Given the description of an element on the screen output the (x, y) to click on. 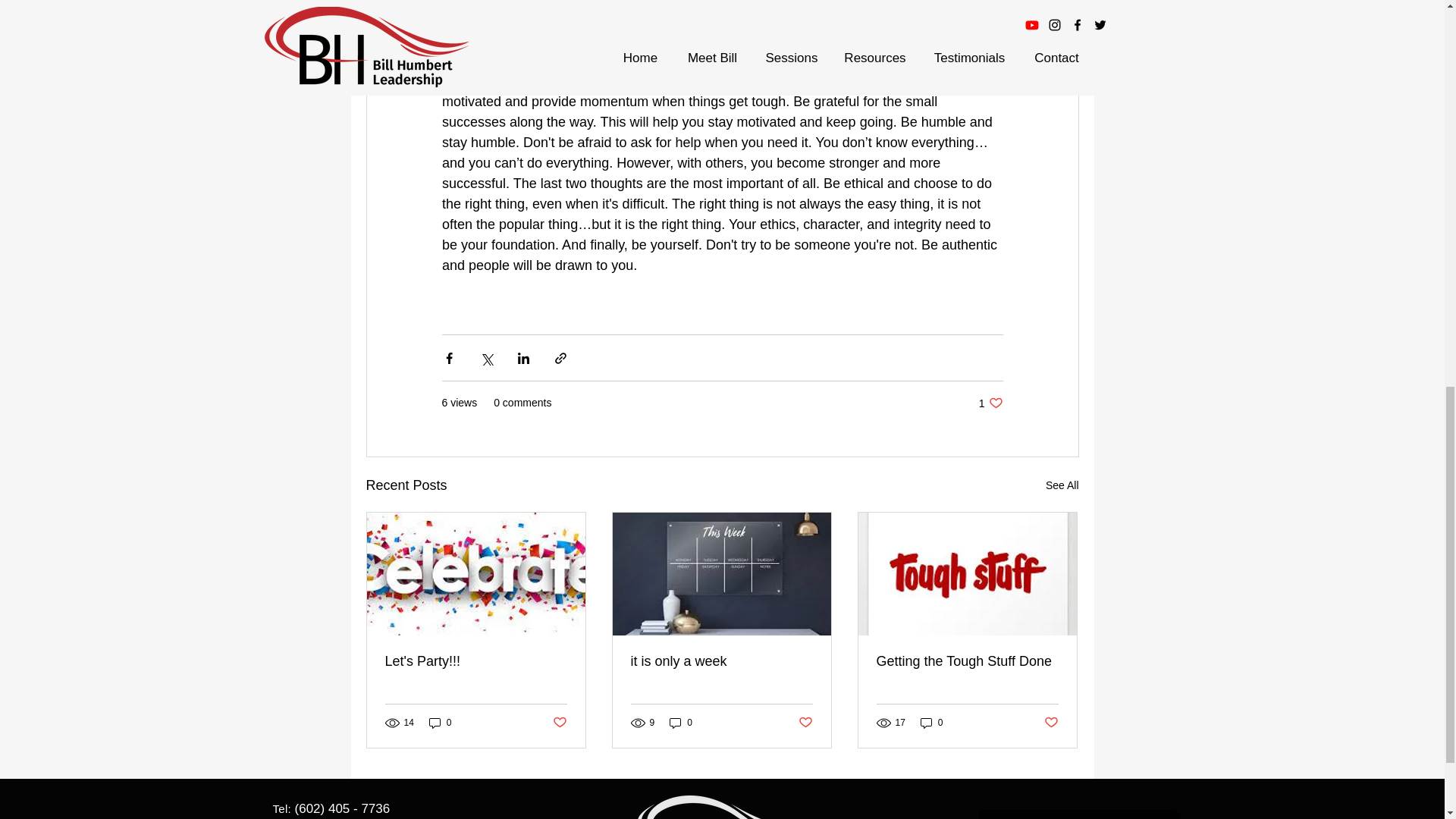
it is only a week (721, 661)
Post not marked as liked (804, 722)
Post not marked as liked (1050, 722)
0 (681, 722)
Post not marked as liked (558, 722)
Getting the Tough Stuff Done (967, 661)
0 (931, 722)
0 (440, 722)
Let's Party!!! (990, 402)
